Given the description of an element on the screen output the (x, y) to click on. 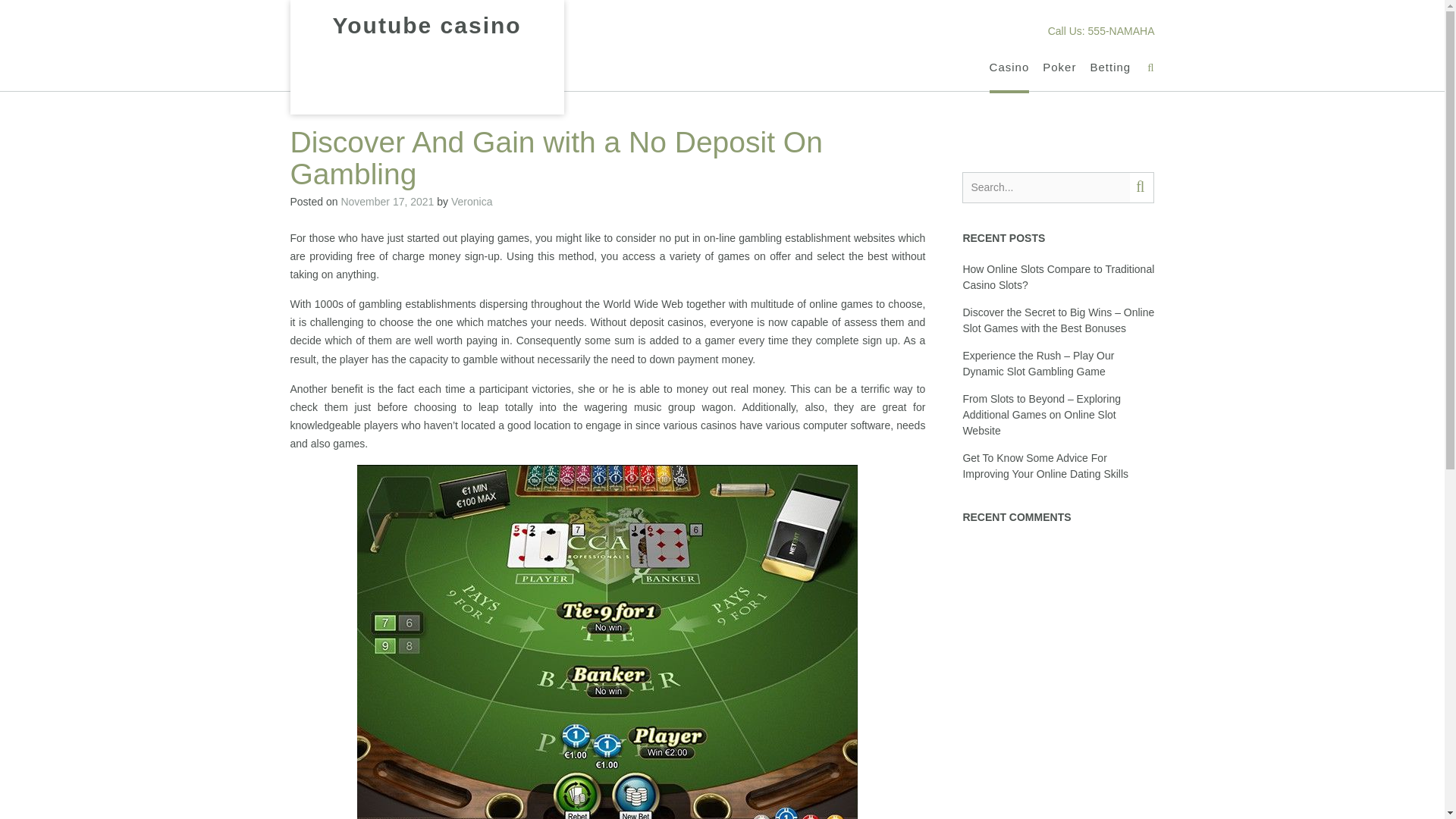
Veronica (471, 201)
Poker (1058, 67)
Betting (1110, 67)
Search for: (1045, 186)
Youtube casino (426, 25)
November 17, 2021 (386, 201)
Casino (1009, 67)
How Online Slots Compare to Traditional Casino Slots? (1058, 276)
